Given the description of an element on the screen output the (x, y) to click on. 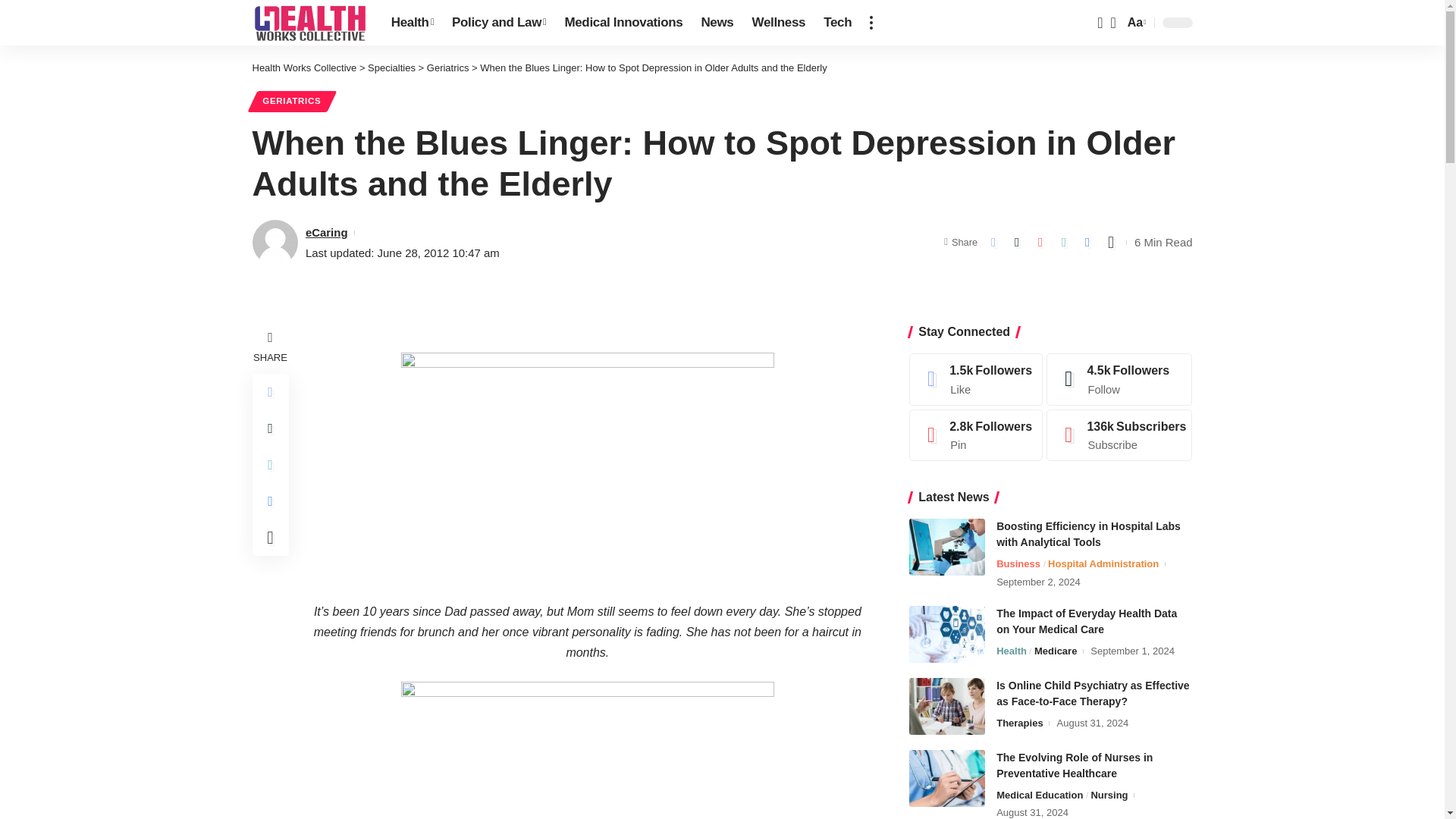
News (716, 22)
Go to the Specialties Category archives. (391, 67)
How-To-Deal-With-Depression-In-The-Elderly (587, 750)
Policy and Law (498, 22)
Health Works Collective (308, 22)
Tech (836, 22)
Go to Health Works Collective. (303, 67)
Wellness (778, 22)
How-To-Deal-With-Depression-In-The-Elderly (587, 476)
Go to the Geriatrics Category archives. (447, 67)
